Given the description of an element on the screen output the (x, y) to click on. 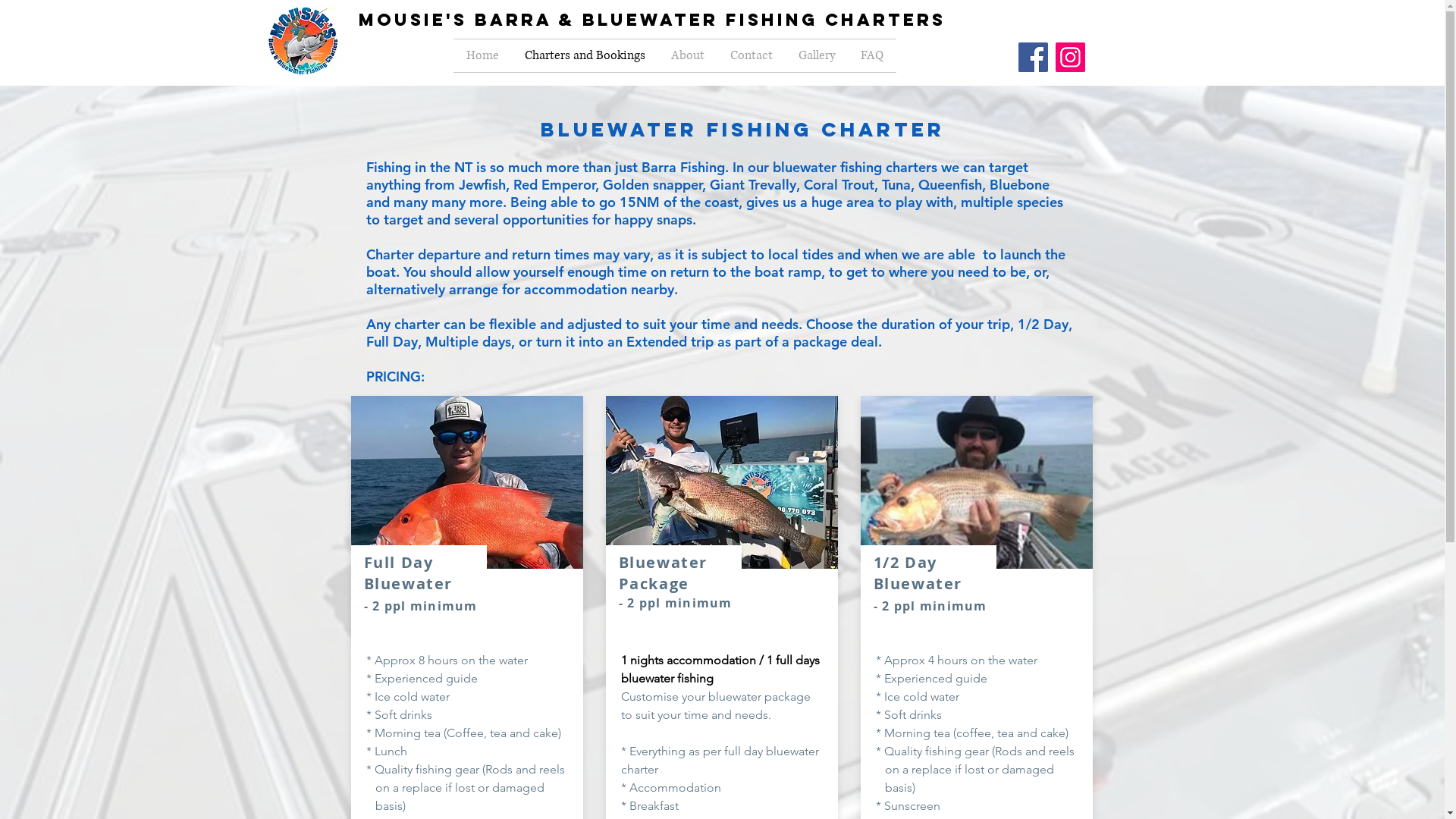
Contact Element type: text (751, 55)
Charters and Bookings Element type: text (584, 55)
Home Element type: text (482, 55)
About Element type: text (687, 55)
FAQ Element type: text (871, 55)
Gallery Element type: text (816, 55)
